Given the description of an element on the screen output the (x, y) to click on. 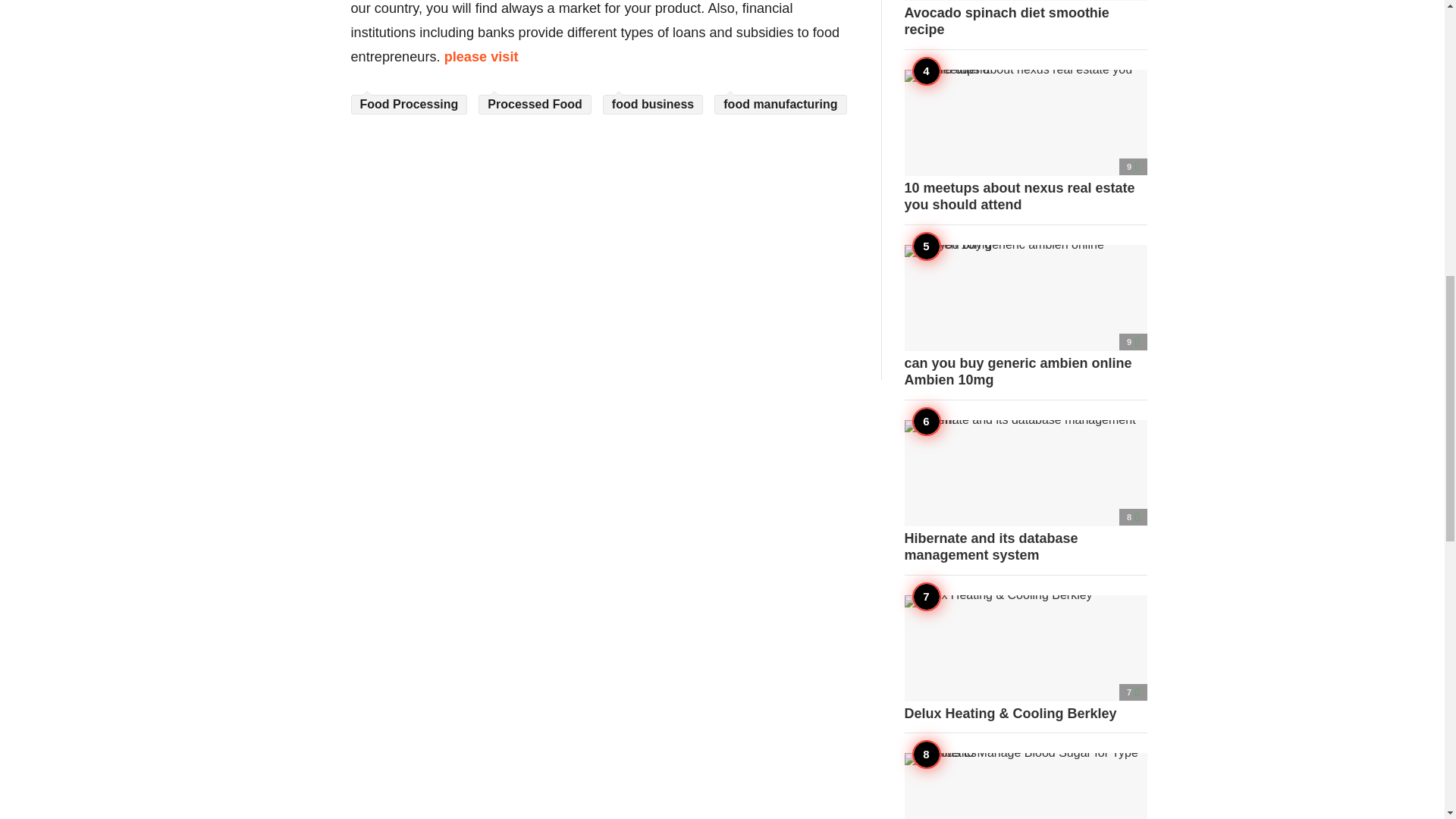
10 meetups about nexus real estate you should attend (1025, 141)
can you buy generic ambien online Ambien 10mg (1025, 316)
Avocado spinach diet smoothie recipe (1025, 18)
8 Foods to Manage Blood Sugar for Type 2 Diabetics (1025, 785)
Hibernate and its database management system (1025, 492)
